Given the description of an element on the screen output the (x, y) to click on. 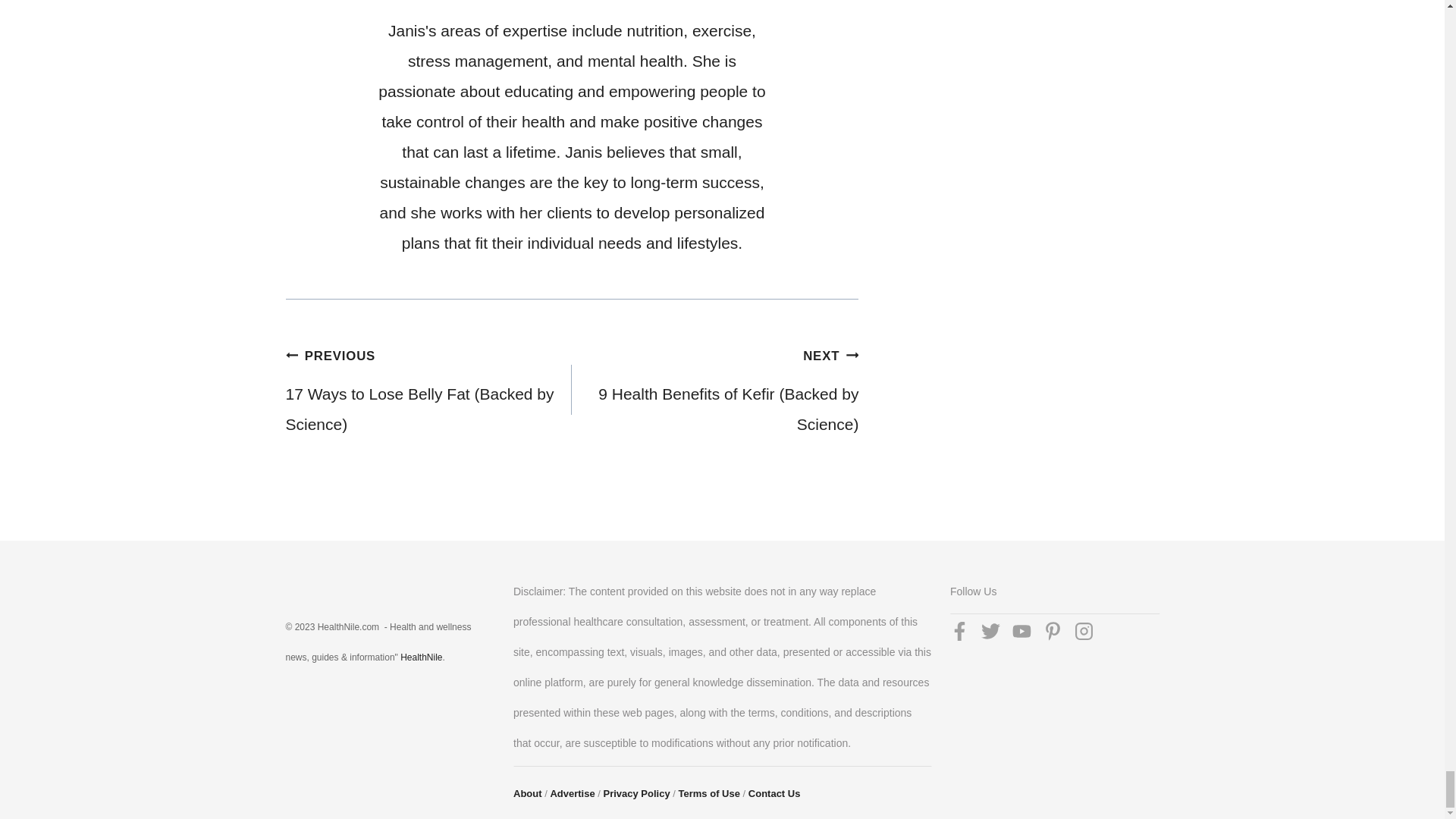
Privacy Policy (636, 793)
Terms of Use (708, 793)
HealthNile (421, 656)
Advertise (572, 793)
Contact Us (774, 793)
About (527, 793)
